Given the description of an element on the screen output the (x, y) to click on. 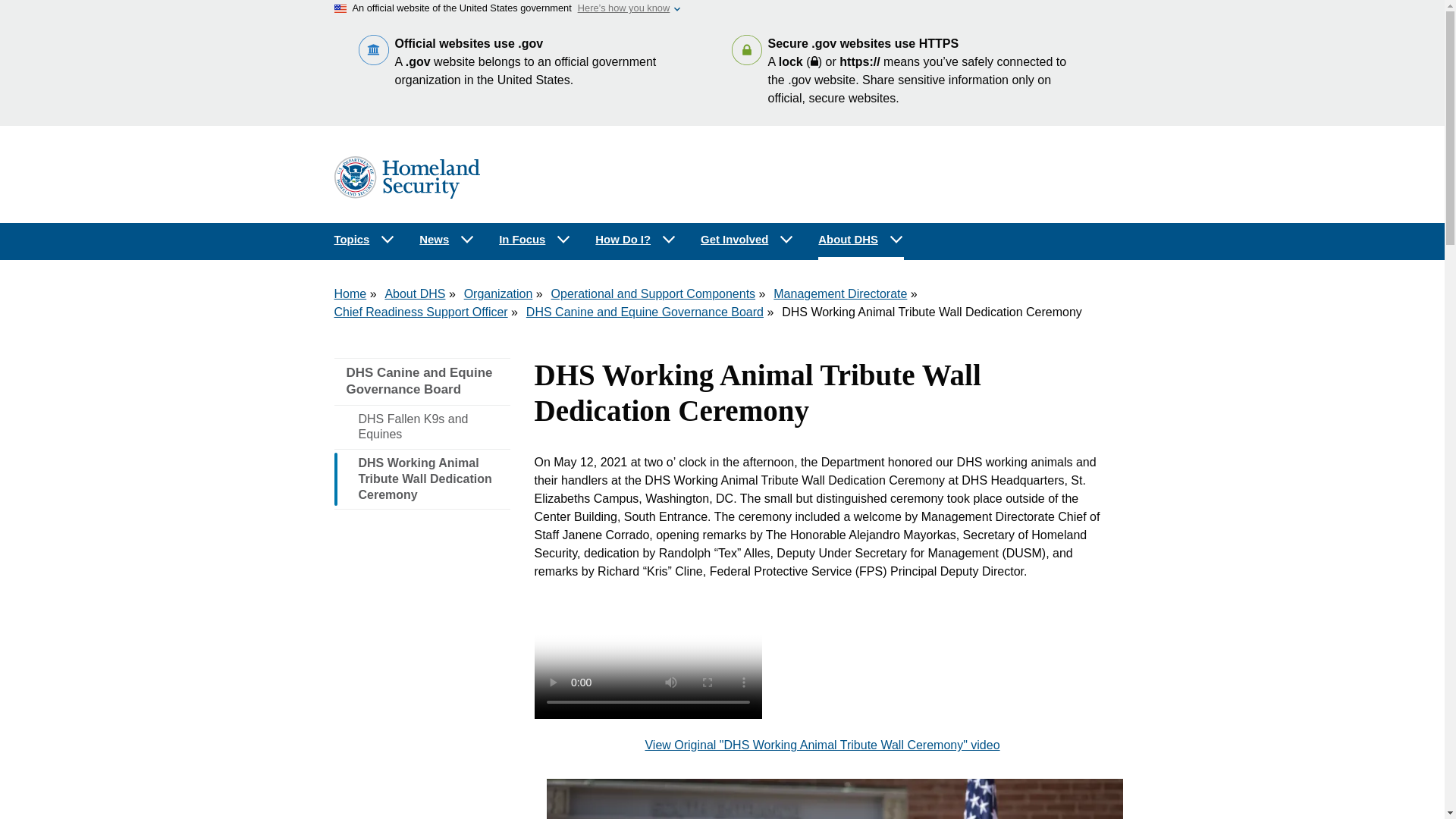
Topics (364, 239)
DHS Canine and Equine Governance Board (643, 311)
DHS Fallen K9s and Equines (421, 426)
News (446, 239)
Home (349, 293)
Management Directorate (840, 293)
DHS Working Animal Tribute Wall Dedication Ceremony (421, 478)
How Do I? (635, 239)
About DHS (414, 293)
Get Involved (747, 239)
